Given the description of an element on the screen output the (x, y) to click on. 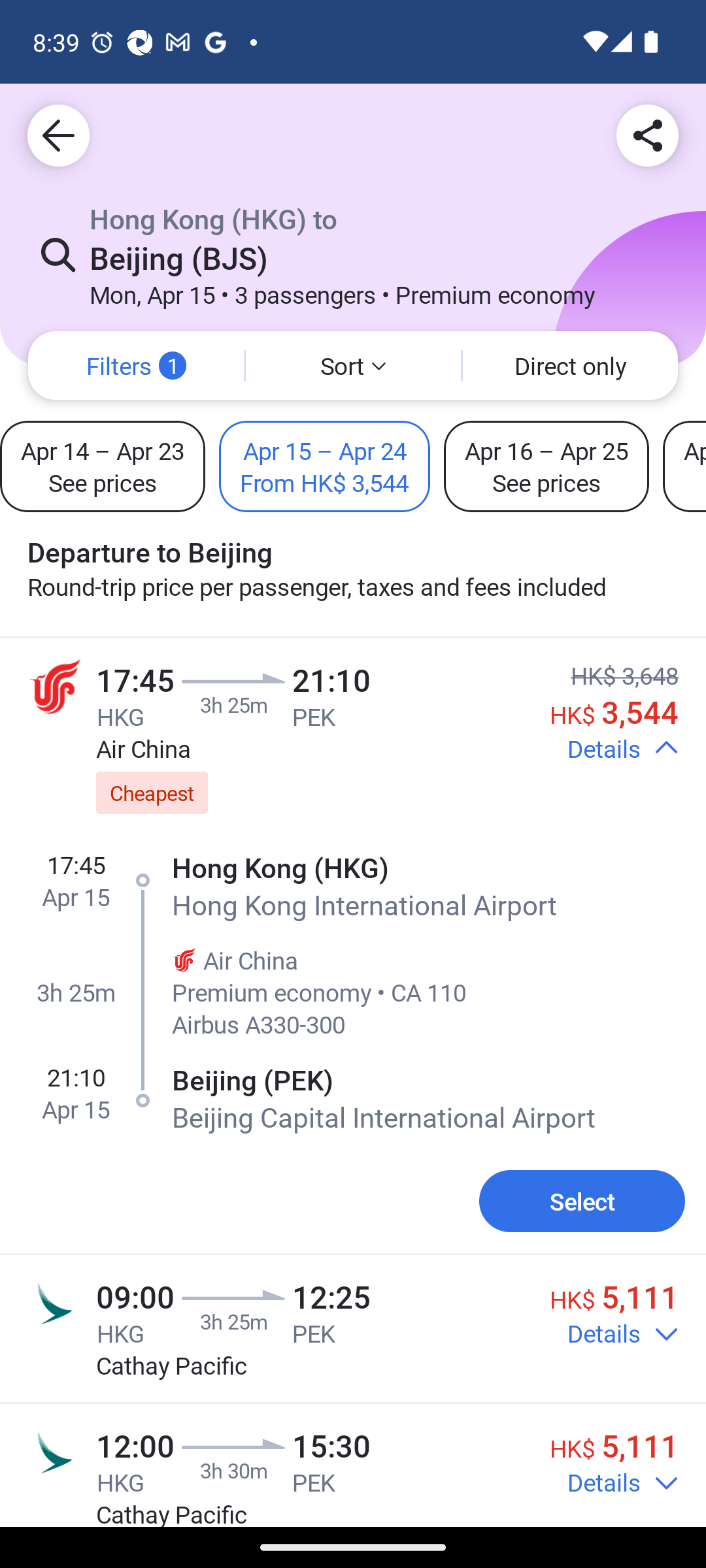
Filters 1 (135, 365)
Sort (353, 365)
Direct only (570, 365)
Apr 14 – Apr 23 See prices (102, 466)
Apr 15 – Apr 24 From HK$ 3,544 (323, 466)
Apr 16 – Apr 25 See prices (546, 466)
Select (581, 1200)
